Given the description of an element on the screen output the (x, y) to click on. 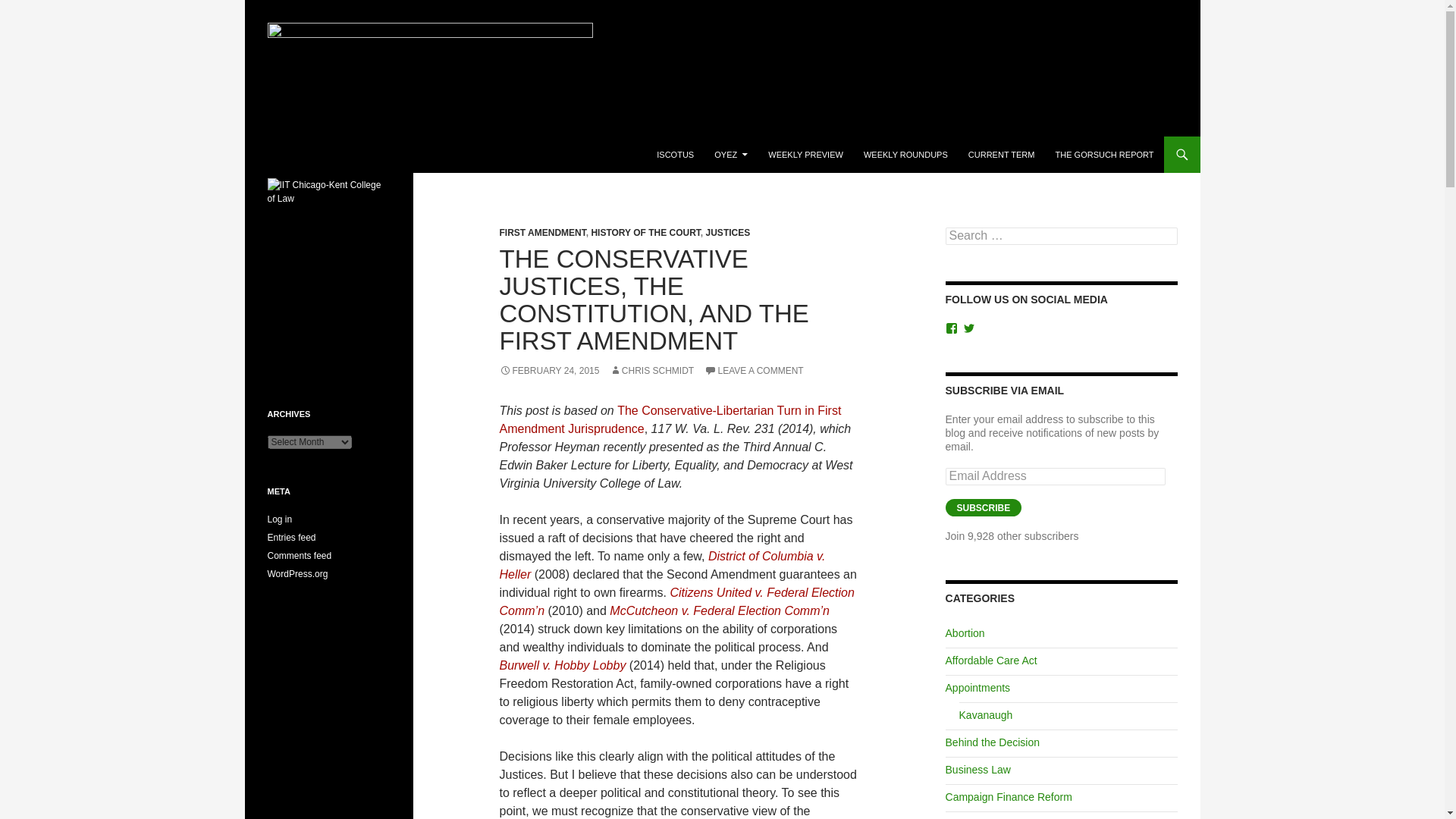
HISTORY OF THE COURT (645, 232)
FEBRUARY 24, 2015 (548, 370)
District of Columbia v. Heller (662, 564)
FIRST AMENDMENT (542, 232)
CURRENT TERM (1001, 154)
Burwell v. Hobby Lobby (563, 665)
CHRIS SCHMIDT (652, 370)
